Given the description of an element on the screen output the (x, y) to click on. 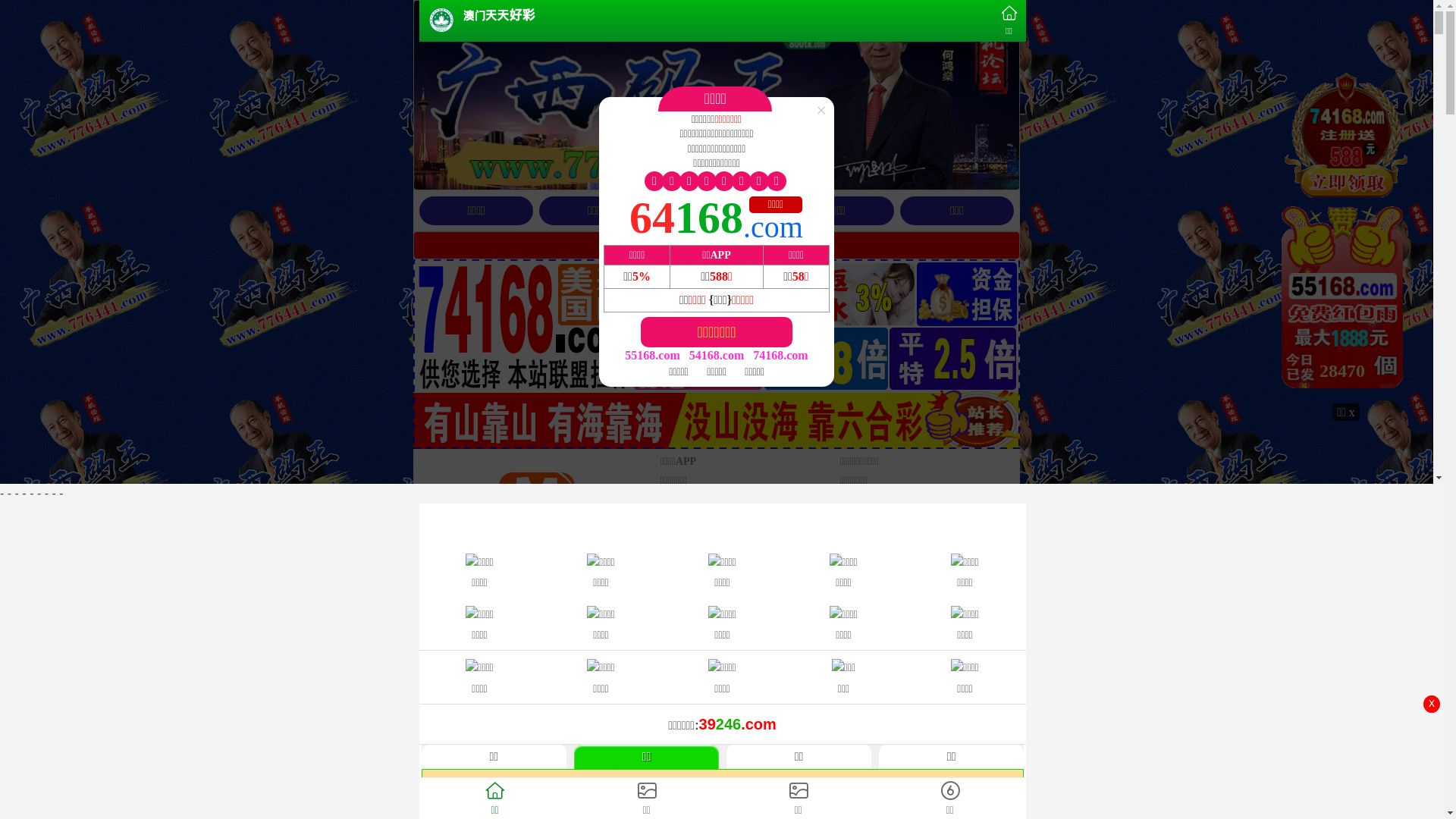
x Element type: text (1431, 703)
